Given the description of an element on the screen output the (x, y) to click on. 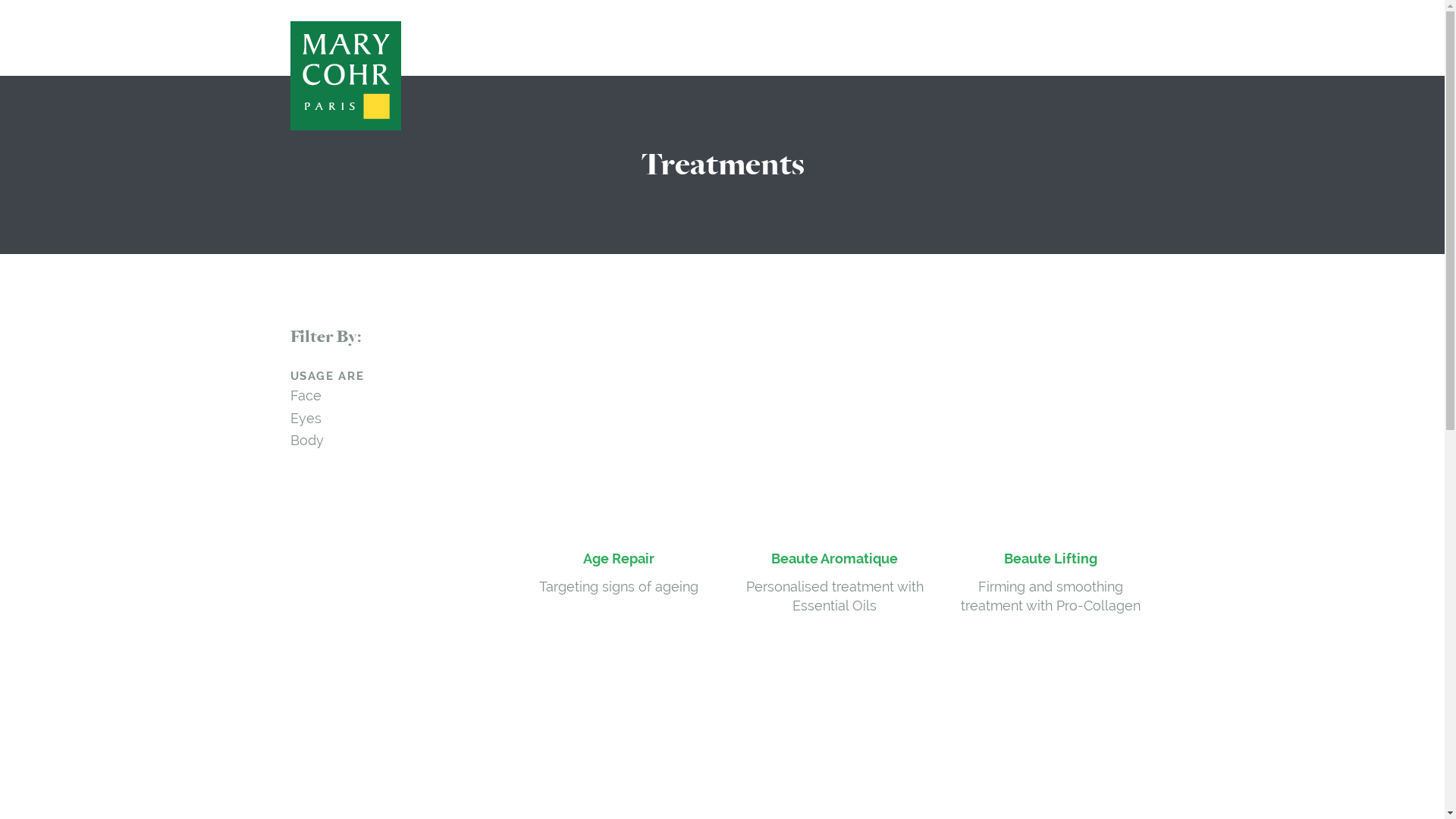
Face Element type: text (304, 395)
Beaute Aromatique
Personalised treatment with Essential Oils Element type: text (834, 470)
Age Repair
Targeting signs of ageing Element type: text (618, 461)
Body Element type: text (306, 440)
Eyes Element type: text (304, 418)
